Given the description of an element on the screen output the (x, y) to click on. 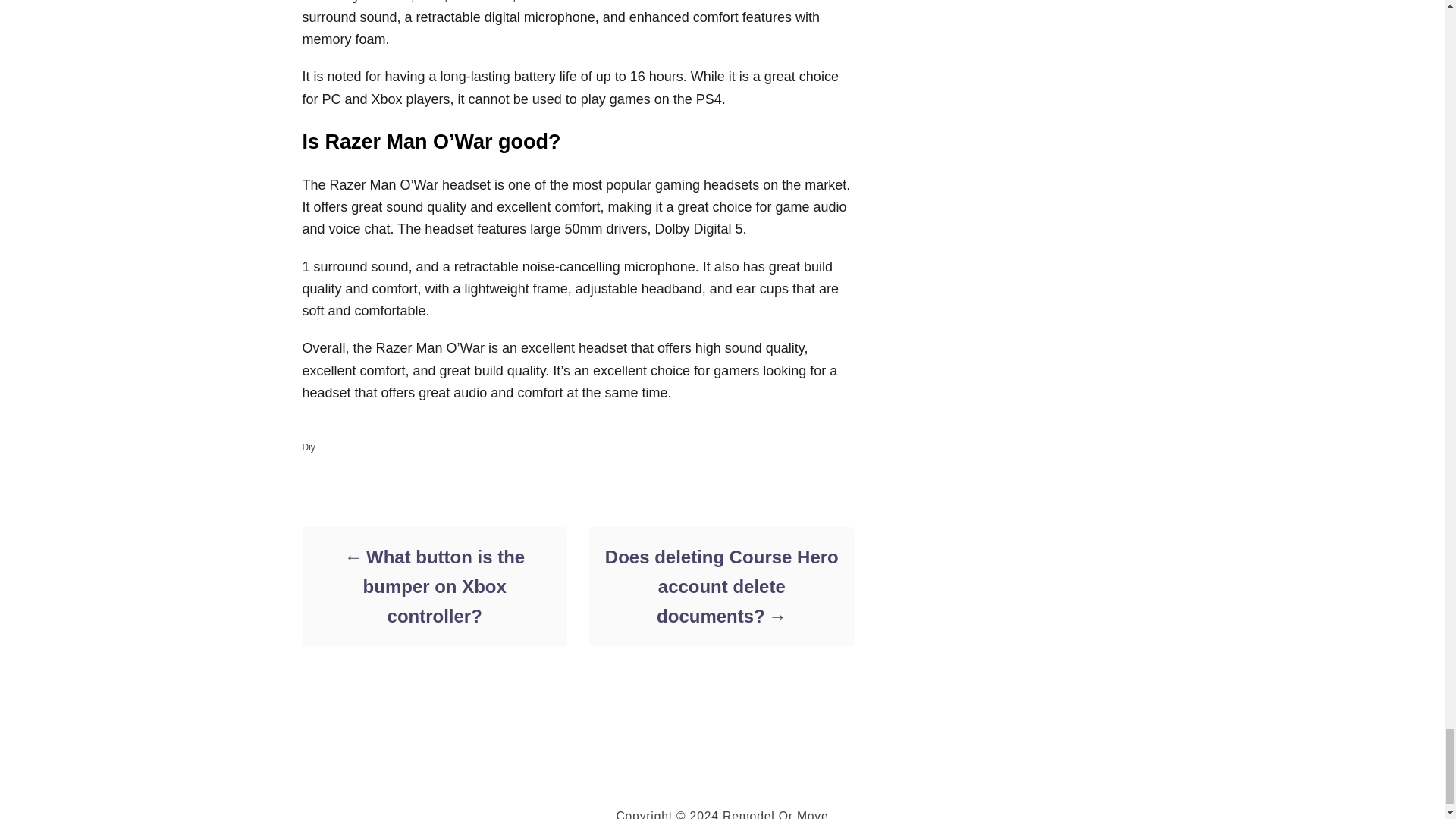
What button is the bumper on Xbox controller? (434, 586)
Diy (307, 447)
Does deleting Course Hero account delete documents? (721, 586)
